Given the description of an element on the screen output the (x, y) to click on. 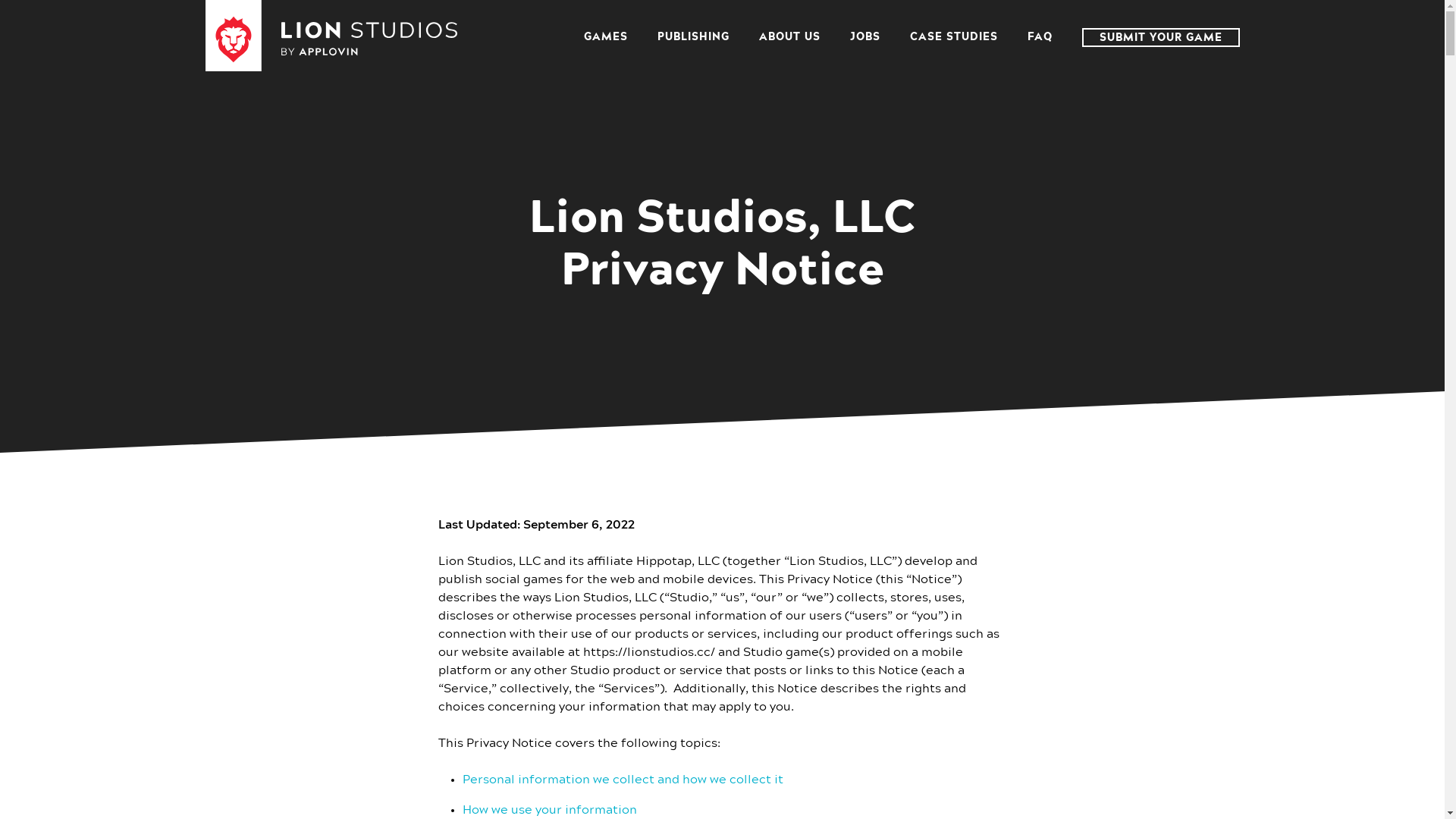
FAQ Element type: text (1038, 36)
ABOUT US Element type: text (788, 36)
PUBLISHING Element type: text (692, 36)
Personal information we collect and how we collect it Element type: text (622, 779)
CASE STUDIES Element type: text (953, 36)
How we use your information Element type: text (549, 809)
GAMES Element type: text (605, 36)
SUBMIT YOUR GAME Element type: text (1160, 37)
JOBS Element type: text (864, 36)
